Given the description of an element on the screen output the (x, y) to click on. 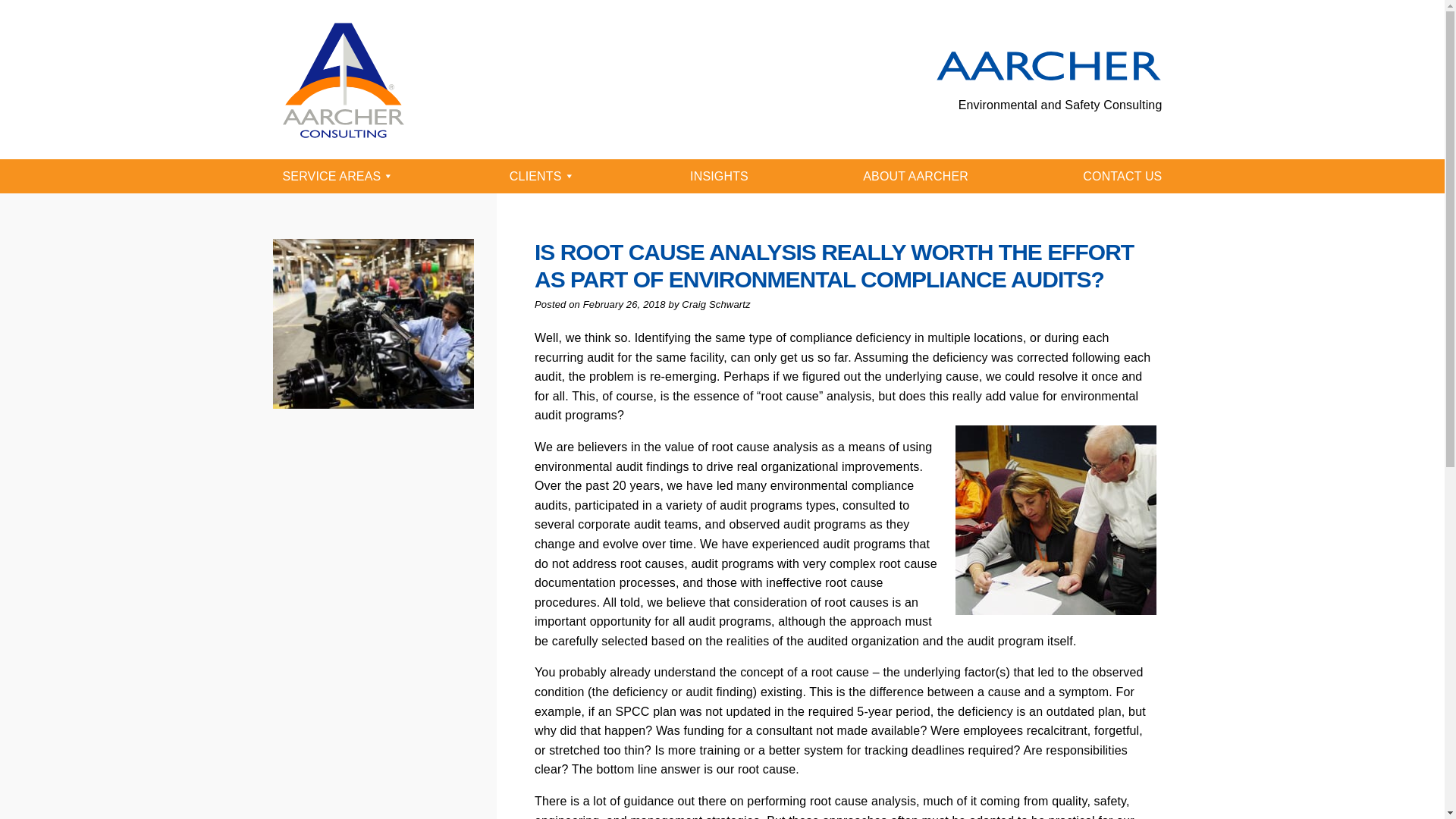
CONTACT US (1121, 176)
ABOUT AARCHER (915, 176)
INSIGHTS (718, 176)
CLIENTS (543, 176)
SERVICE AREAS (337, 176)
